Given the description of an element on the screen output the (x, y) to click on. 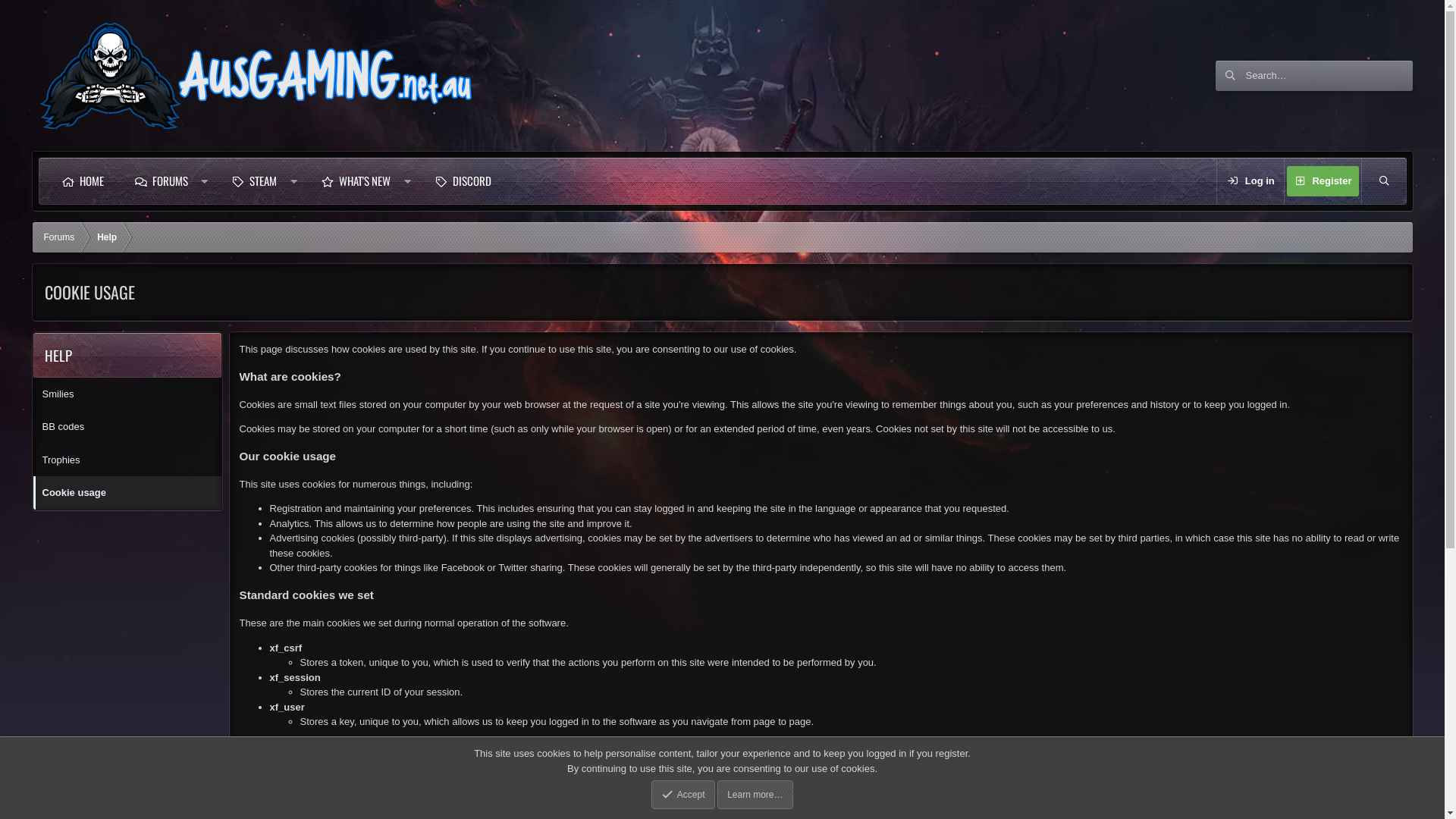
Forums Element type: text (58, 237)
Register Element type: text (1322, 180)
Cookie usage Element type: text (127, 492)
FORUMS Element type: text (160, 180)
DISCORD Element type: text (462, 180)
Smilies Element type: text (127, 394)
STEAM Element type: text (253, 180)
WHAT'S NEW Element type: text (355, 180)
HOME Element type: text (81, 180)
Accept Element type: text (682, 794)
Trophies Element type: text (127, 459)
Help Element type: text (106, 237)
Log in Element type: text (1250, 180)
BB codes Element type: text (127, 426)
